Given the description of an element on the screen output the (x, y) to click on. 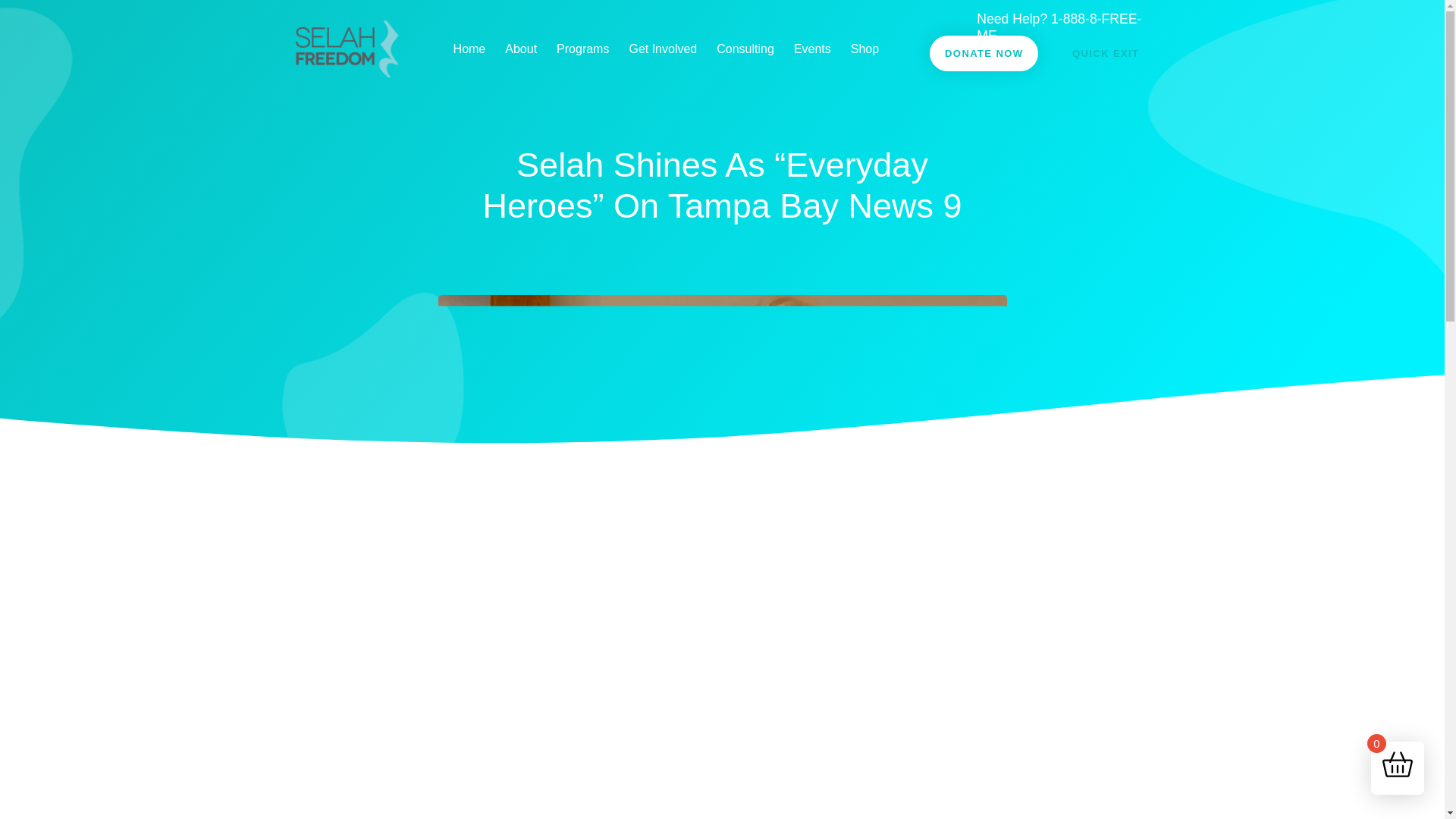
Programs (582, 49)
Get Involved (662, 49)
Consulting (745, 49)
